Given the description of an element on the screen output the (x, y) to click on. 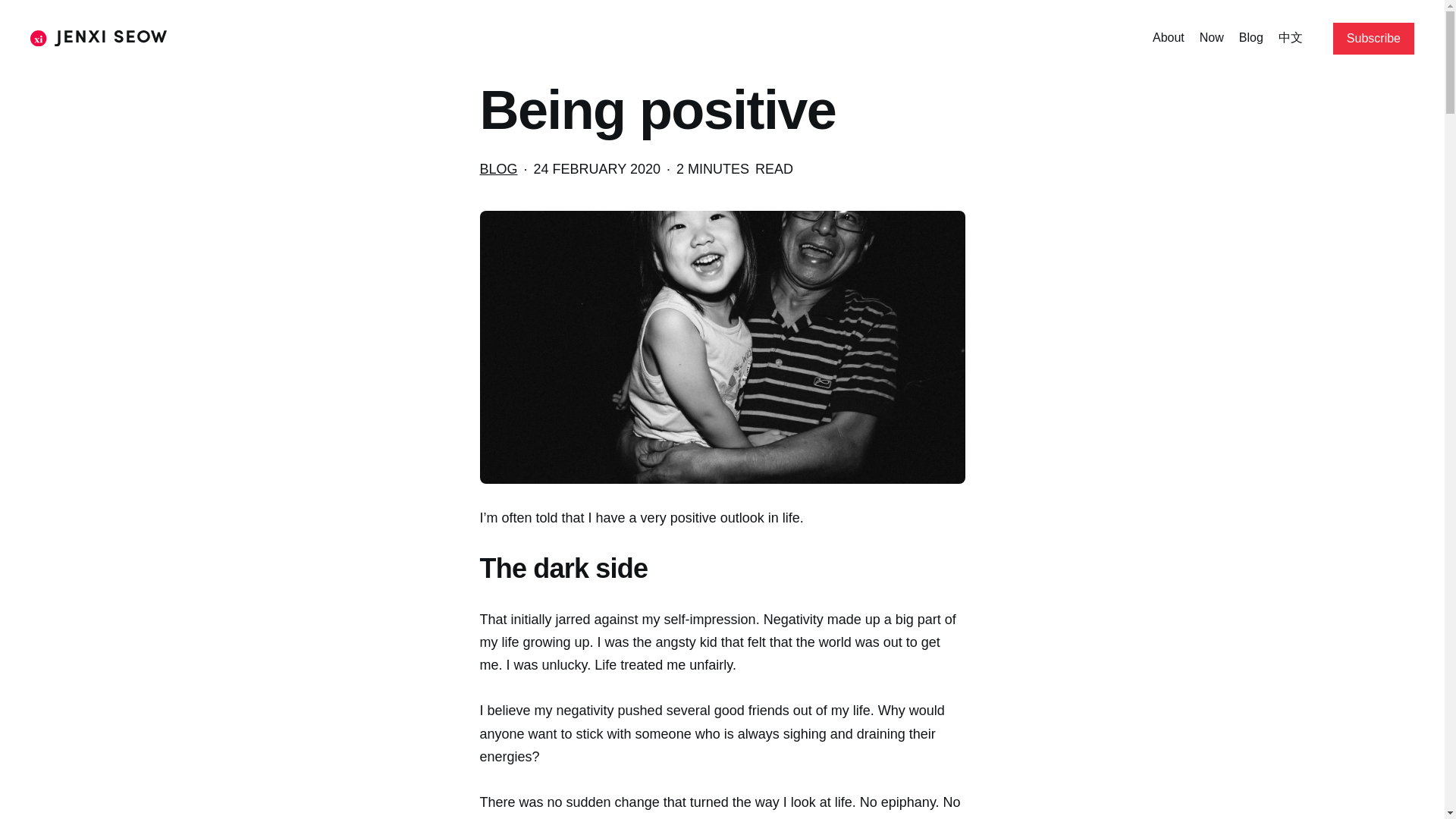
Blog (1251, 37)
BLOG (497, 168)
Subscribe (1373, 38)
Now (1211, 37)
About (1169, 37)
